Given the description of an element on the screen output the (x, y) to click on. 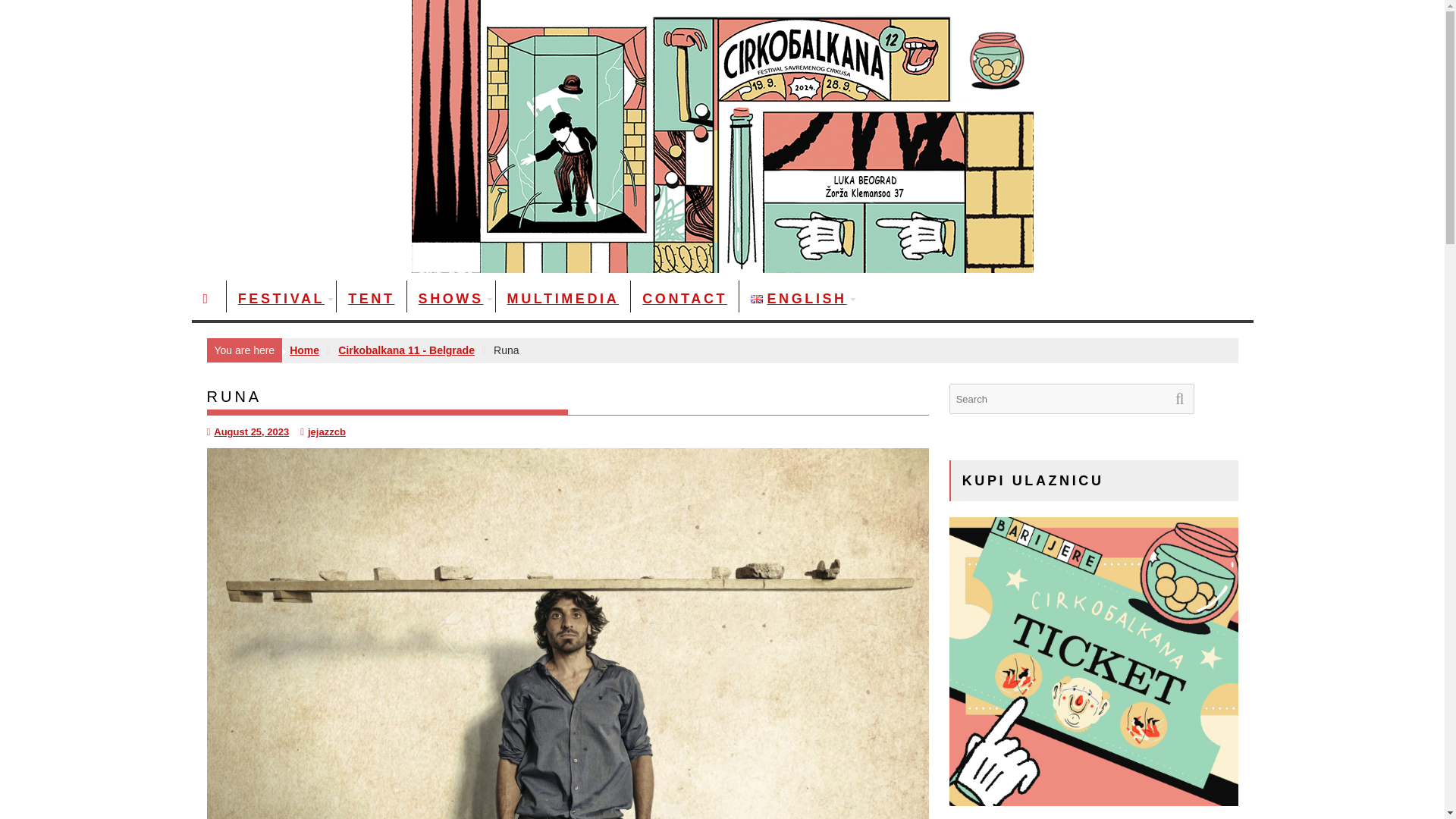
Cirkobalkana 11 - Belgrade (405, 349)
Home (303, 349)
FESTIVAL (281, 298)
jejazzcb (322, 431)
CONTACT (684, 298)
ENGLISH (799, 298)
MULTIMEDIA (563, 298)
SHOWS (451, 298)
TENT (371, 298)
August 25, 2023 (247, 431)
